Given the description of an element on the screen output the (x, y) to click on. 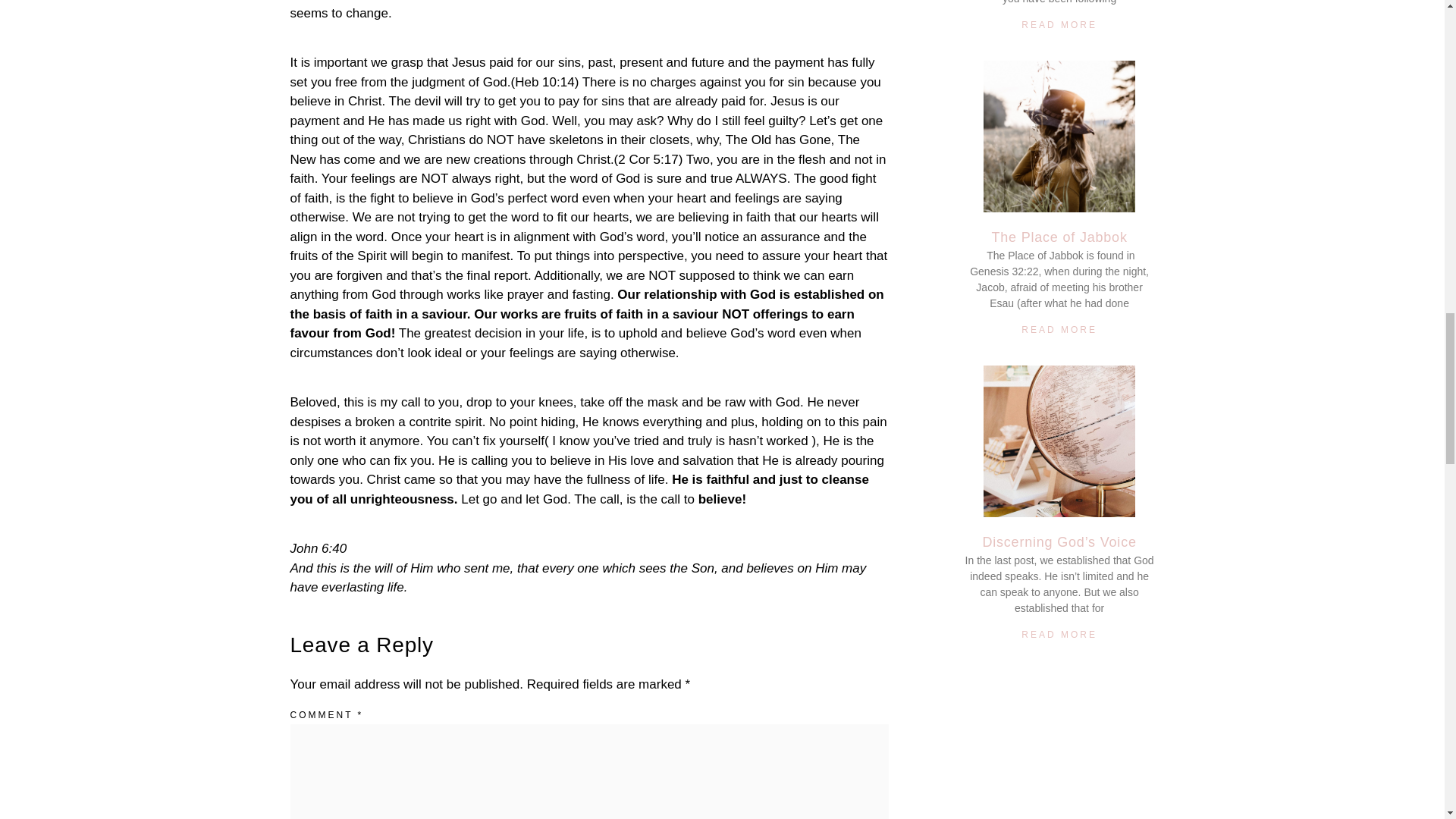
READ MORE (1059, 24)
READ MORE (1059, 329)
The Place of Jabbok (1058, 237)
